Given the description of an element on the screen output the (x, y) to click on. 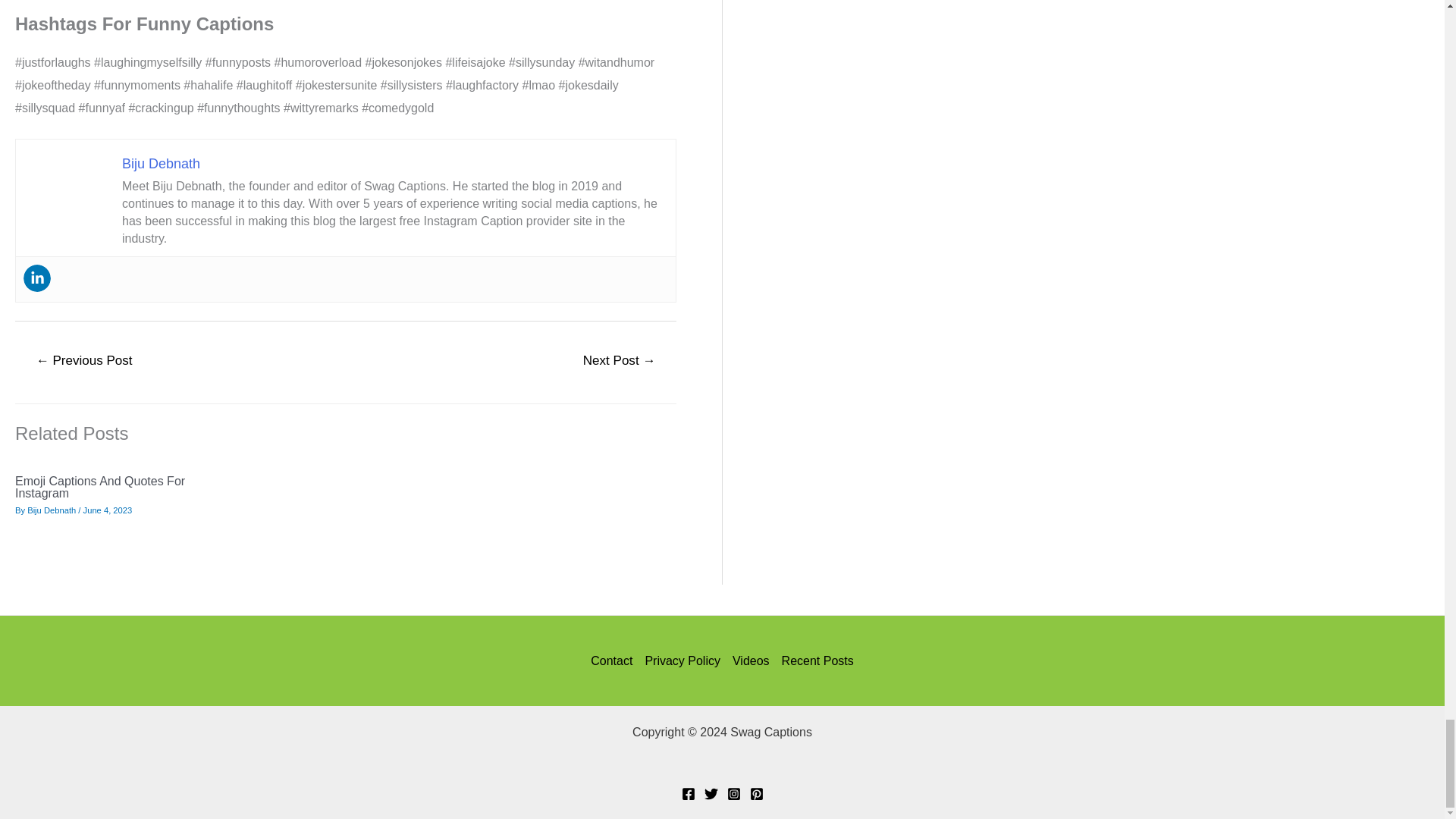
Linkedin (36, 277)
DMCA.com Protection Status (722, 762)
View all posts by Biju Debnath (51, 510)
